Given the description of an element on the screen output the (x, y) to click on. 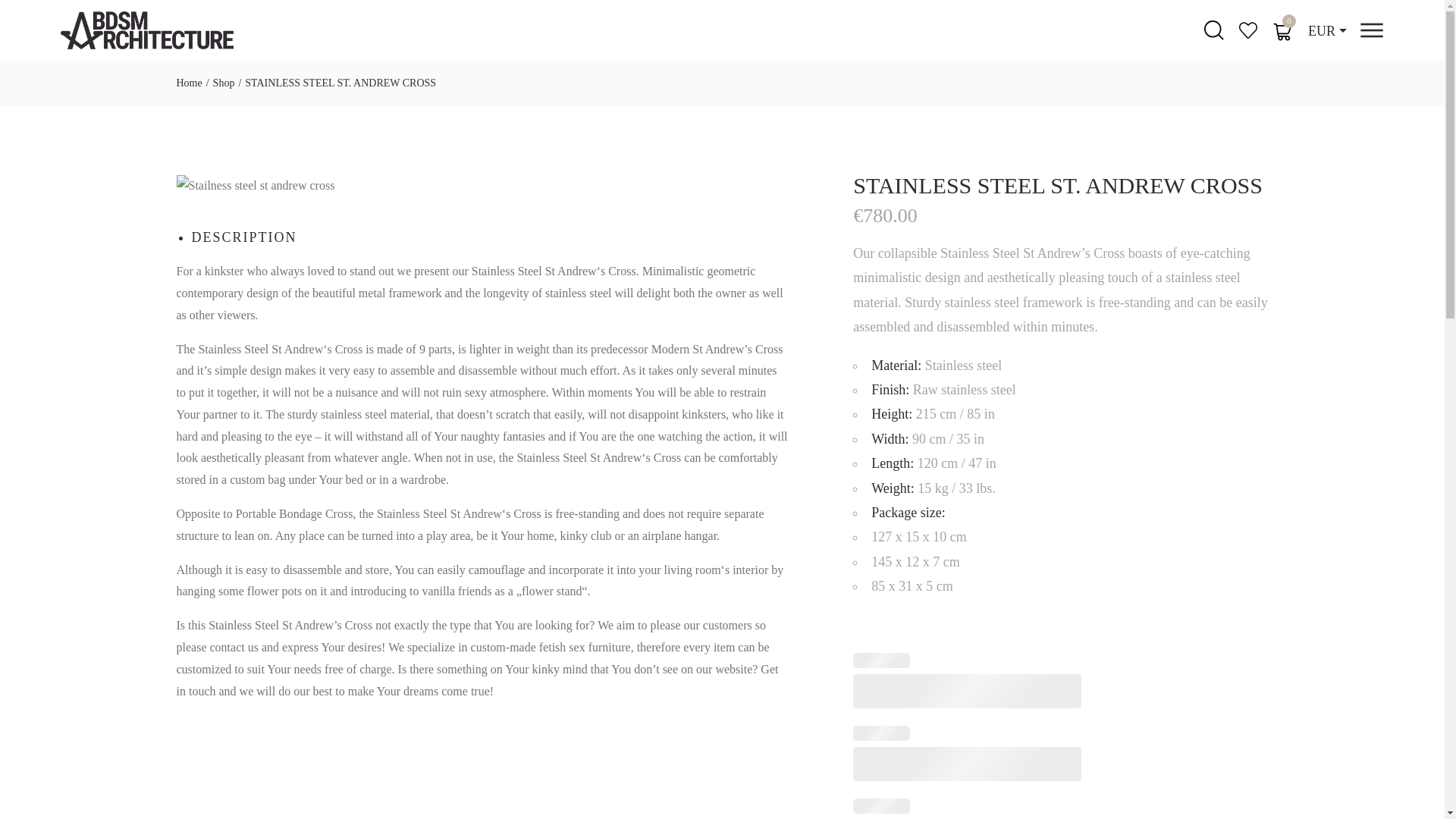
EUR (1327, 30)
Home (189, 83)
0 (1283, 30)
DESCRIPTION (243, 237)
Portable Bondage Cross (294, 513)
Home (189, 83)
Shop (223, 83)
Shop (223, 83)
